Given the description of an element on the screen output the (x, y) to click on. 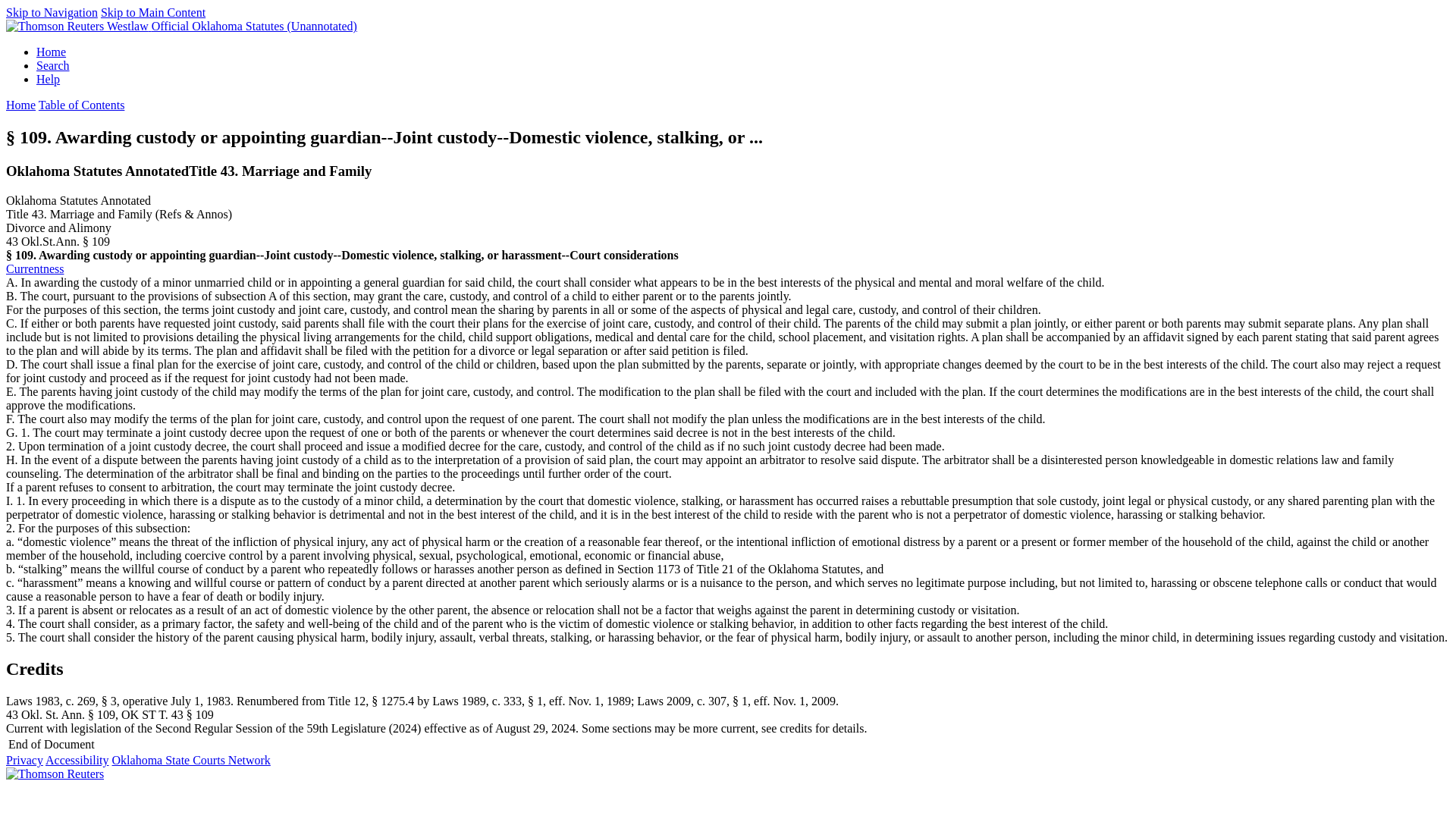
Accessibility (77, 759)
Table of Contents (82, 104)
Home (19, 104)
Oklahoma State Courts Network (191, 759)
Help (47, 78)
Currentness (34, 268)
Home (50, 51)
Skip to Navigation (51, 11)
Privacy (24, 759)
Skip to Main Content (152, 11)
Thomson Reuters Westlaw (78, 25)
Search (52, 65)
